Given the description of an element on the screen output the (x, y) to click on. 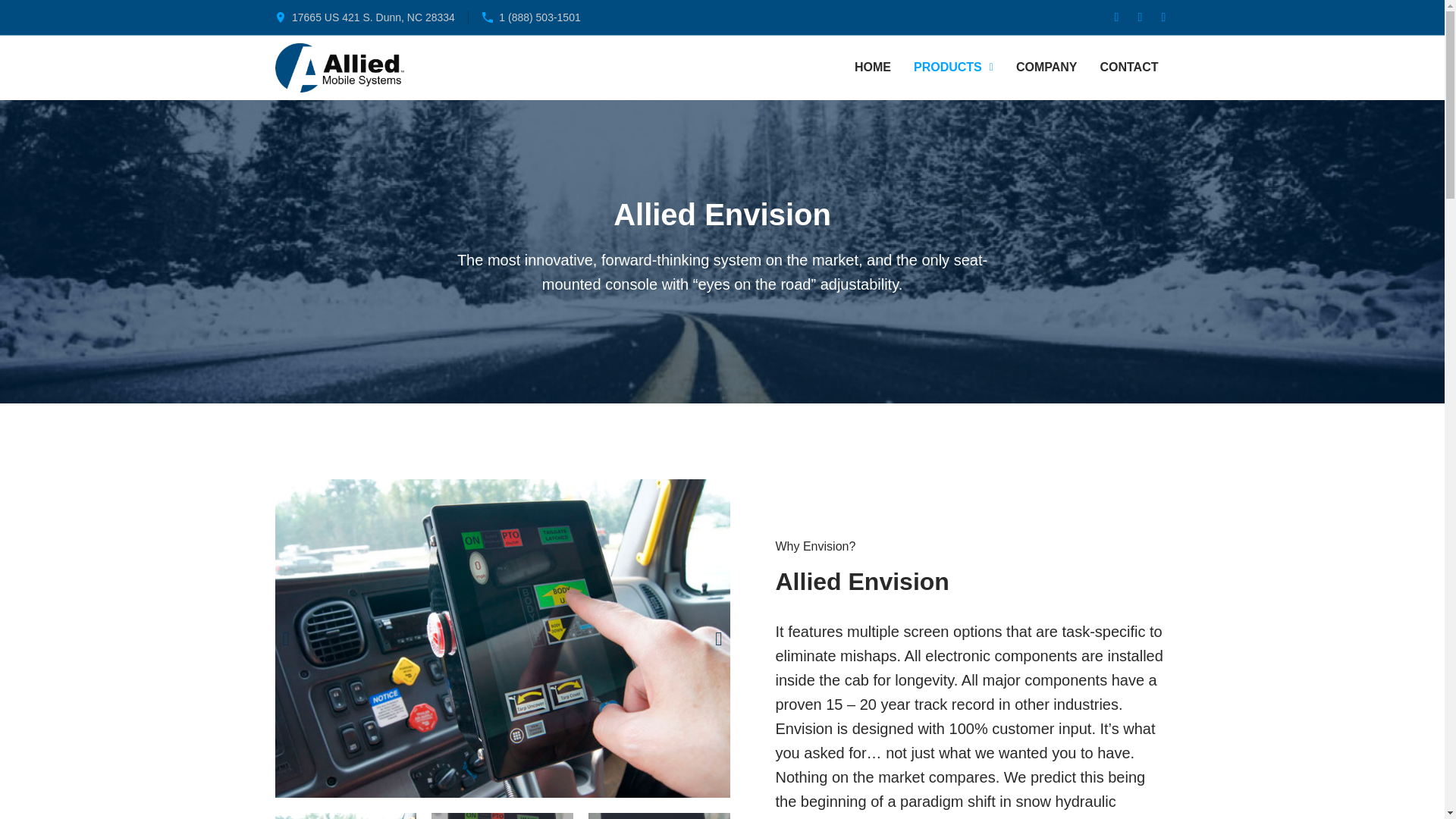
17665 US 421 S. Dunn, NC 28334 (364, 16)
CONTACT (1128, 67)
COMPANY (1046, 67)
PRODUCTS (953, 67)
HOME (872, 67)
